Given the description of an element on the screen output the (x, y) to click on. 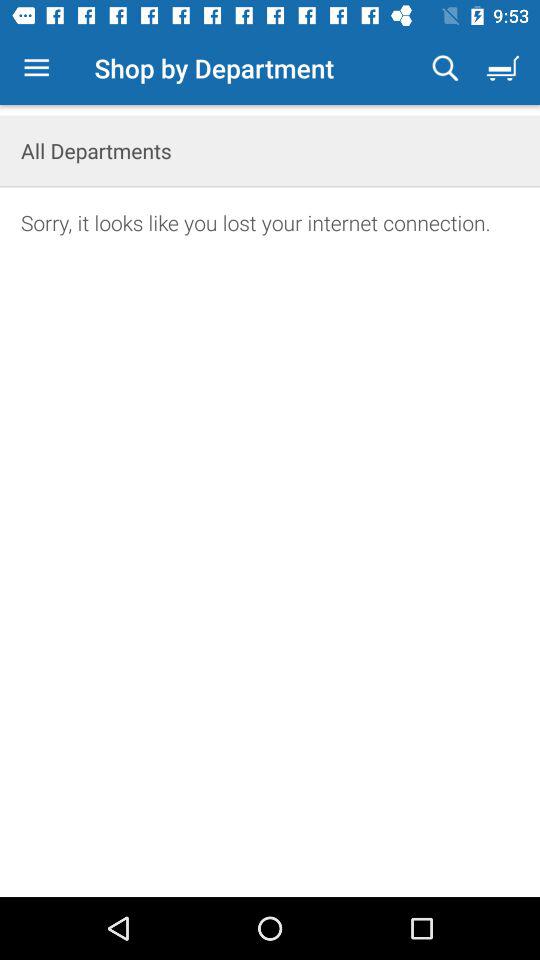
select item to the left of shop by department icon (36, 68)
